Given the description of an element on the screen output the (x, y) to click on. 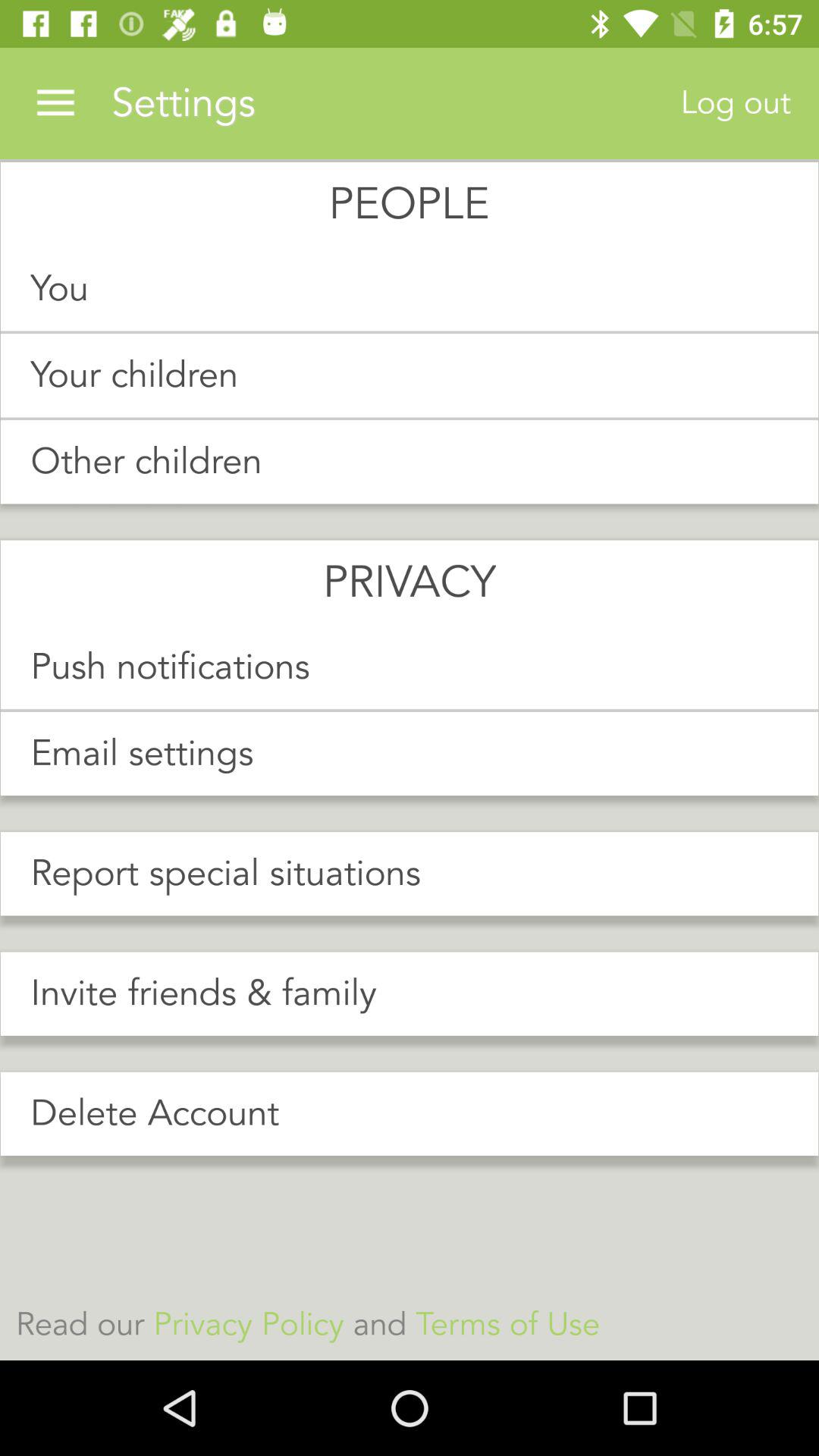
choose item next to the settings icon (55, 103)
